Given the description of an element on the screen output the (x, y) to click on. 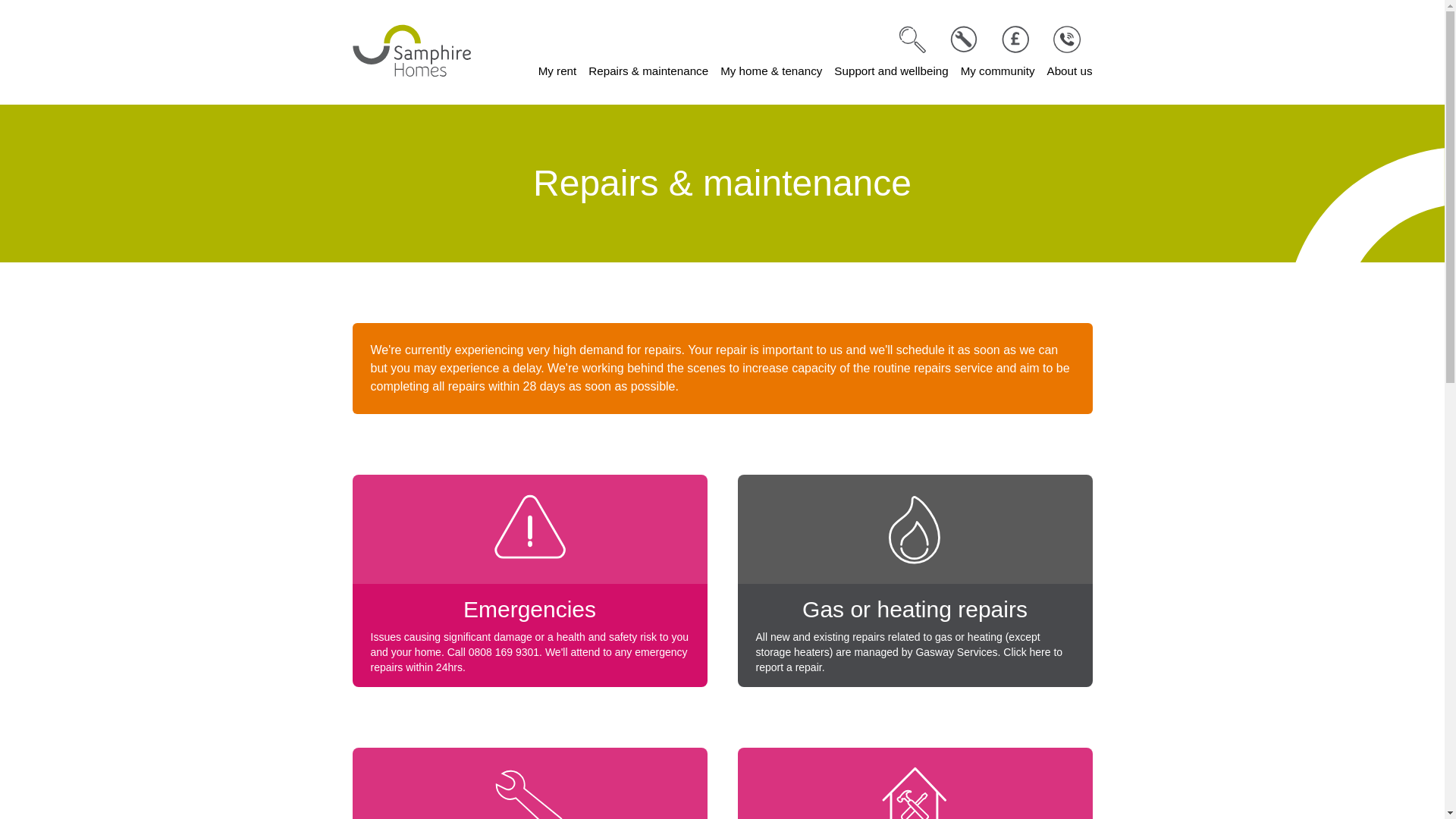
My community (997, 71)
About us (1069, 71)
Support and wellbeing (890, 71)
My rent (557, 71)
